Given the description of an element on the screen output the (x, y) to click on. 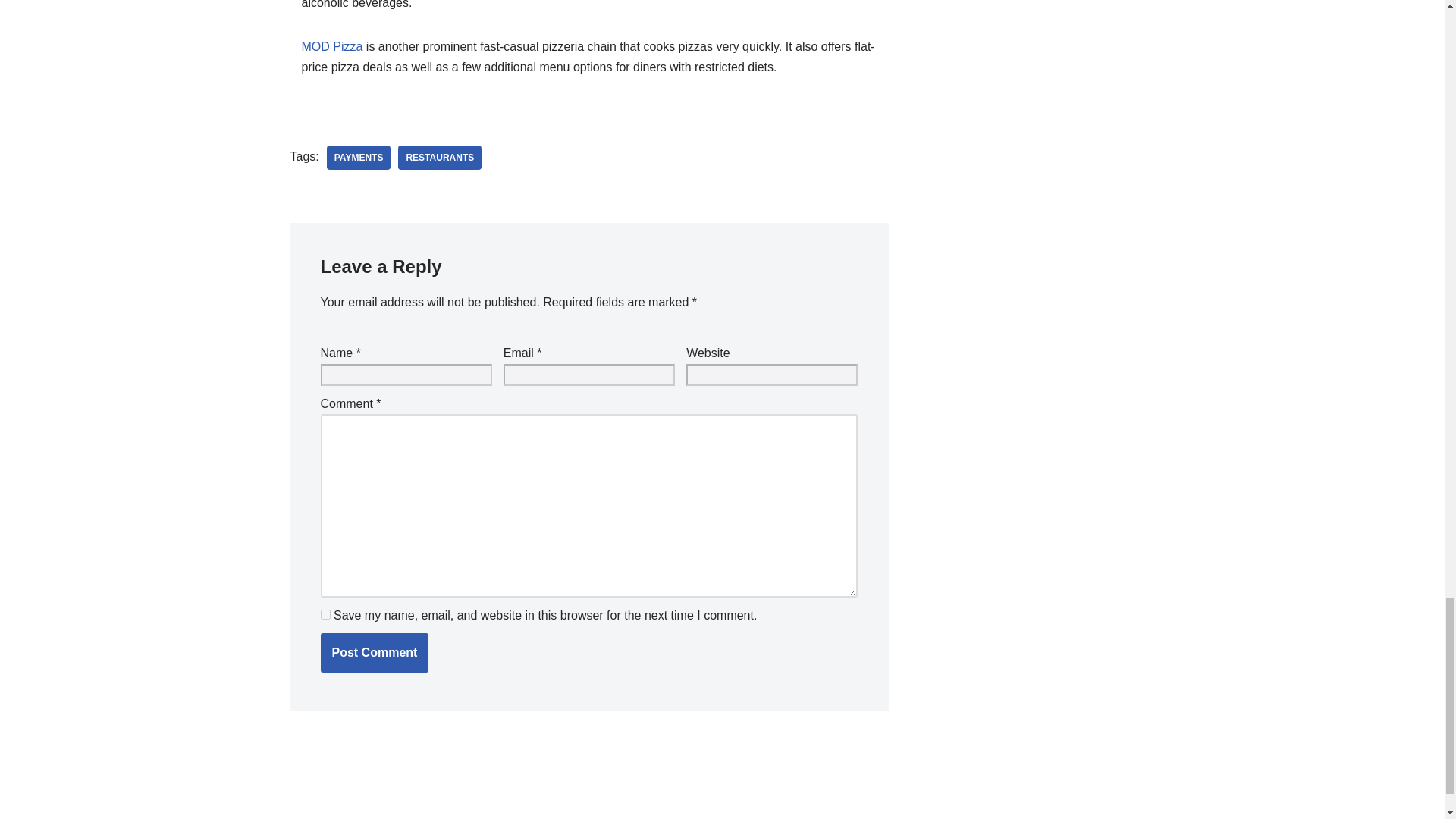
payments (358, 157)
Post Comment (374, 652)
yes (325, 614)
MOD Pizza (331, 46)
RESTAURANTS (439, 157)
restaurants (439, 157)
Post Comment (374, 652)
PAYMENTS (358, 157)
